Given the description of an element on the screen output the (x, y) to click on. 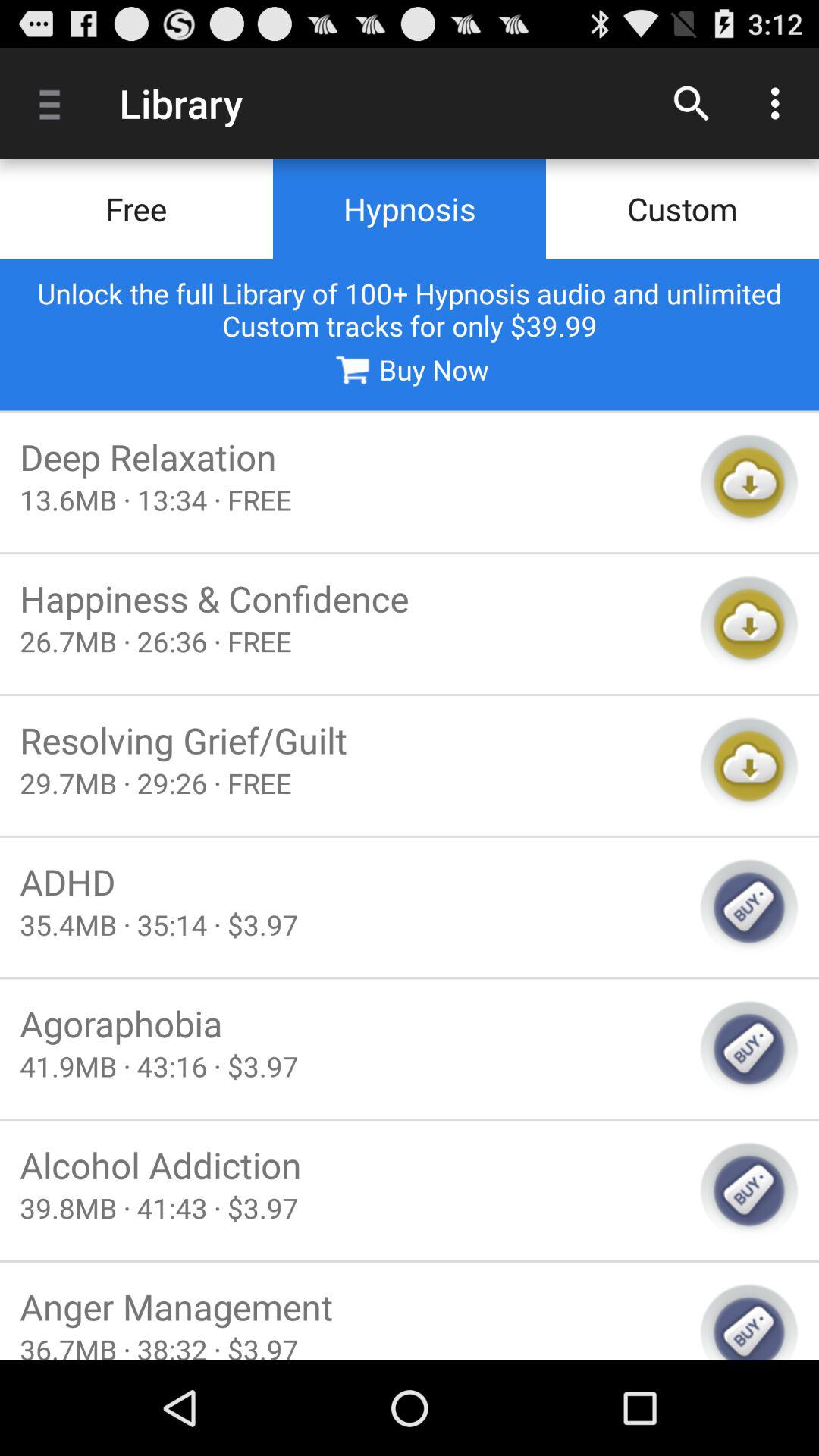
flip until the agoraphobia (349, 1023)
